Given the description of an element on the screen output the (x, y) to click on. 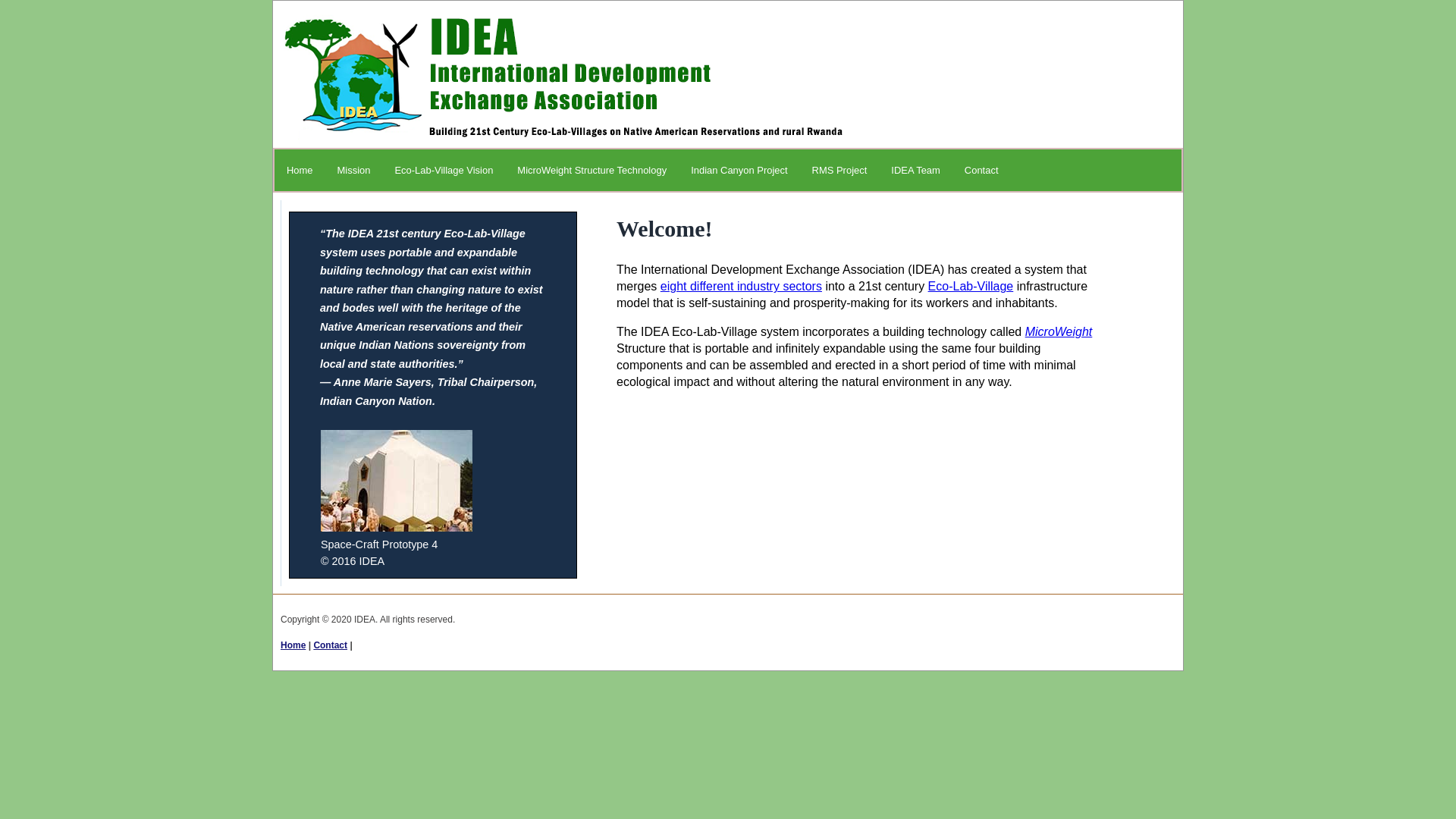
Home Element type: text (292, 645)
Eco-Lab-Village Vision Element type: text (443, 170)
MicroWeight Element type: text (1058, 331)
Home Element type: text (299, 170)
Contact Element type: text (981, 170)
Indian Canyon Project Element type: text (738, 170)
Mission Element type: text (353, 170)
eight different industry sectors Element type: text (741, 285)
Contact Element type: text (330, 645)
Eco-Lab-Village Element type: text (970, 285)
MicroWeight Structure Technology Element type: text (591, 170)
space-craft building technology prototype Element type: hover (396, 480)
RMS Project Element type: text (839, 170)
IDEA Team Element type: text (915, 170)
